Given the description of an element on the screen output the (x, y) to click on. 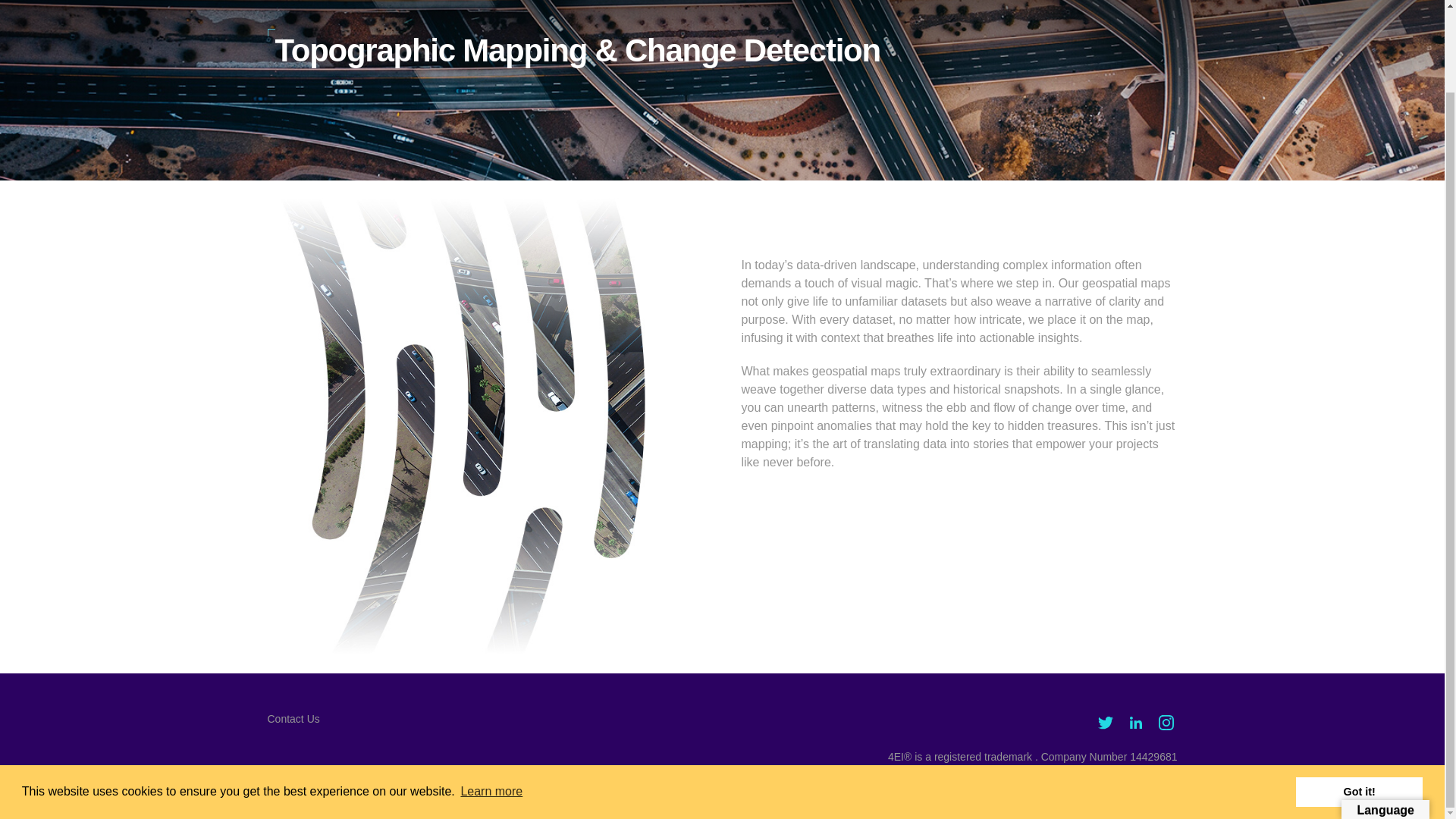
Contact Us (292, 718)
Got it! (1358, 698)
Instagram (1165, 722)
LinkedIn (1135, 722)
Twitter (1104, 722)
Learn more (491, 698)
